Given the description of an element on the screen output the (x, y) to click on. 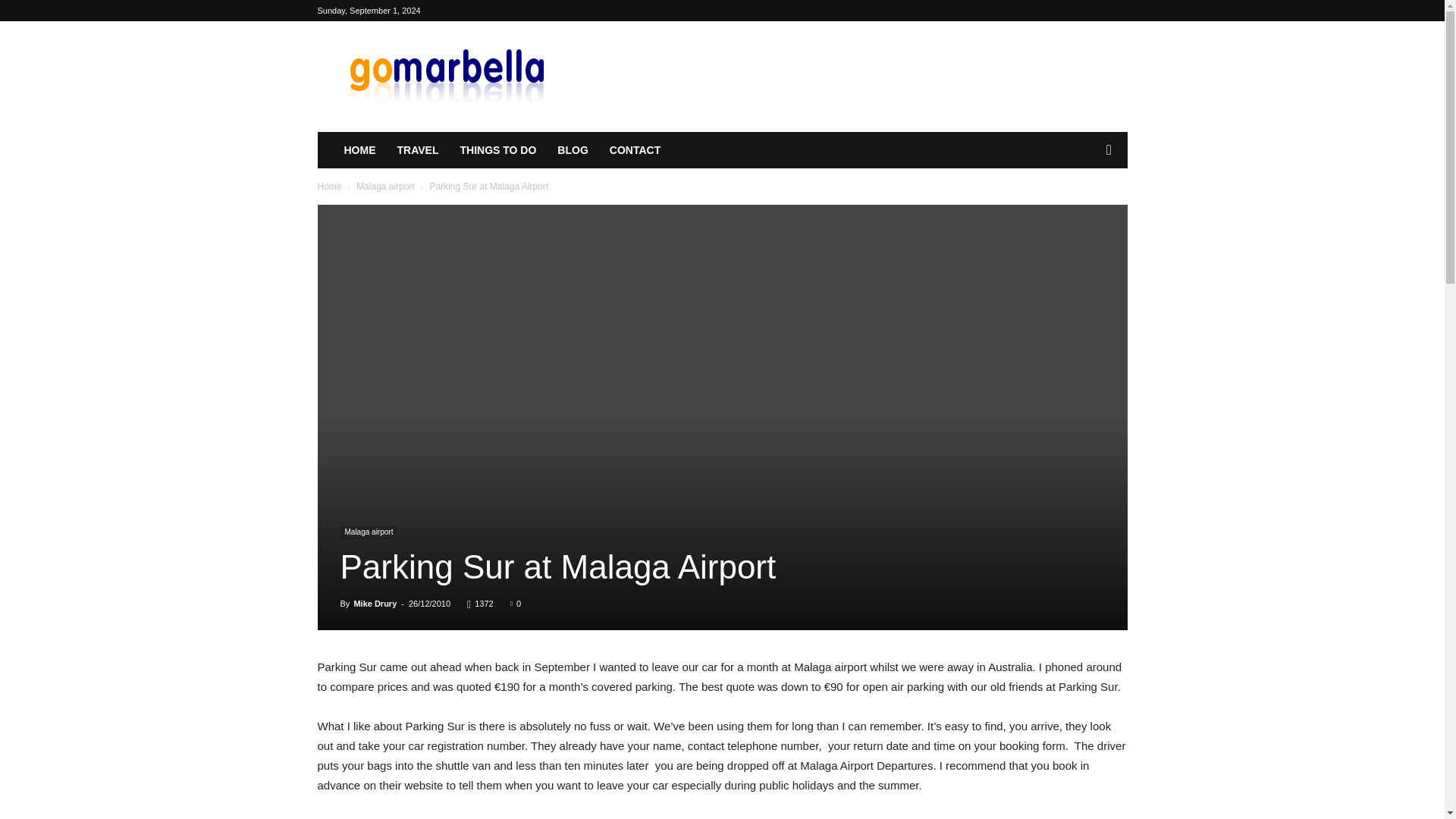
TRAVEL (418, 149)
View all posts in Malaga airport (385, 185)
HOME (360, 149)
